Given the description of an element on the screen output the (x, y) to click on. 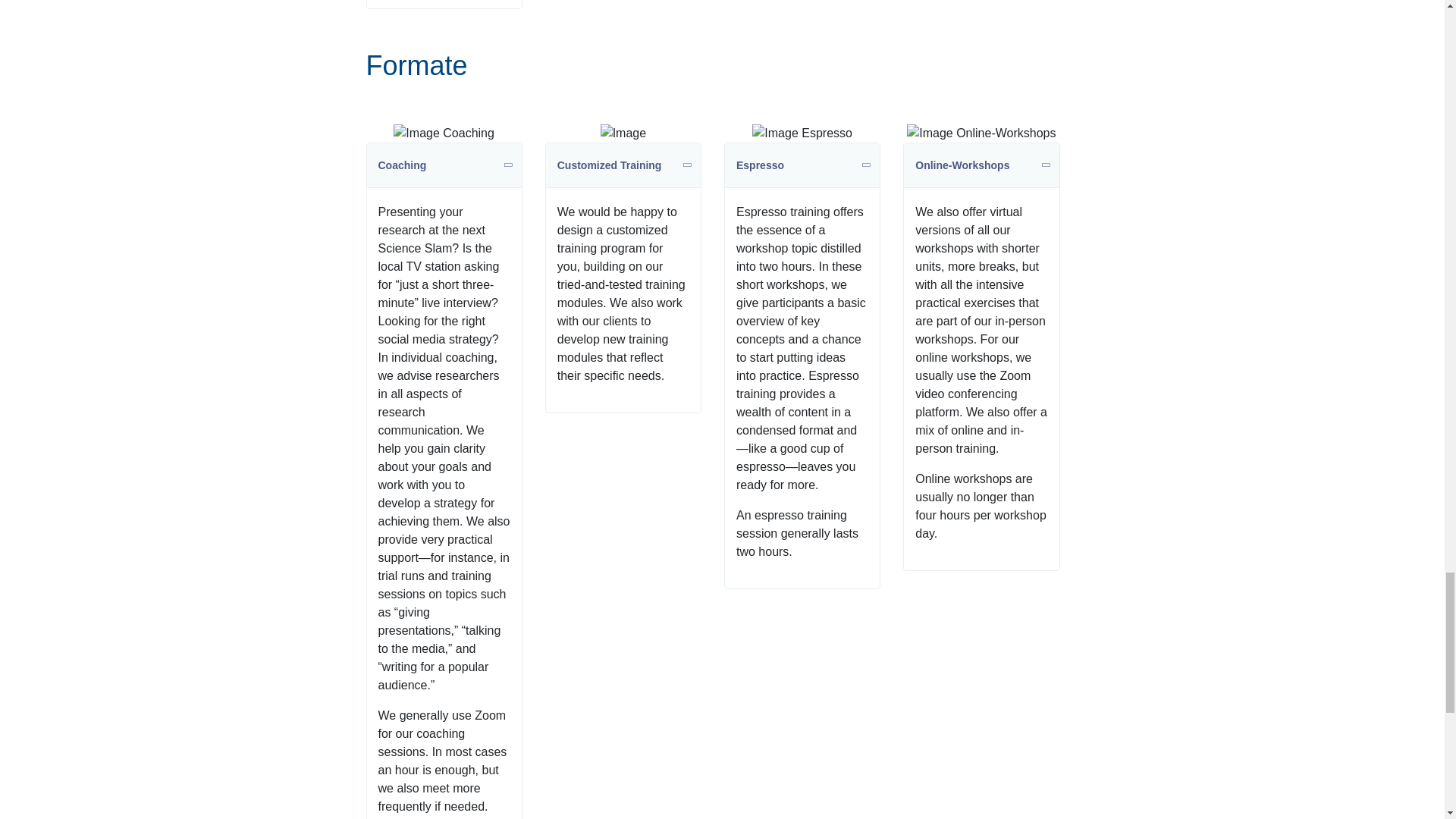
Customized Training (623, 165)
Espresso (802, 165)
Coaching (443, 165)
Online-Workshops (981, 165)
